Given the description of an element on the screen output the (x, y) to click on. 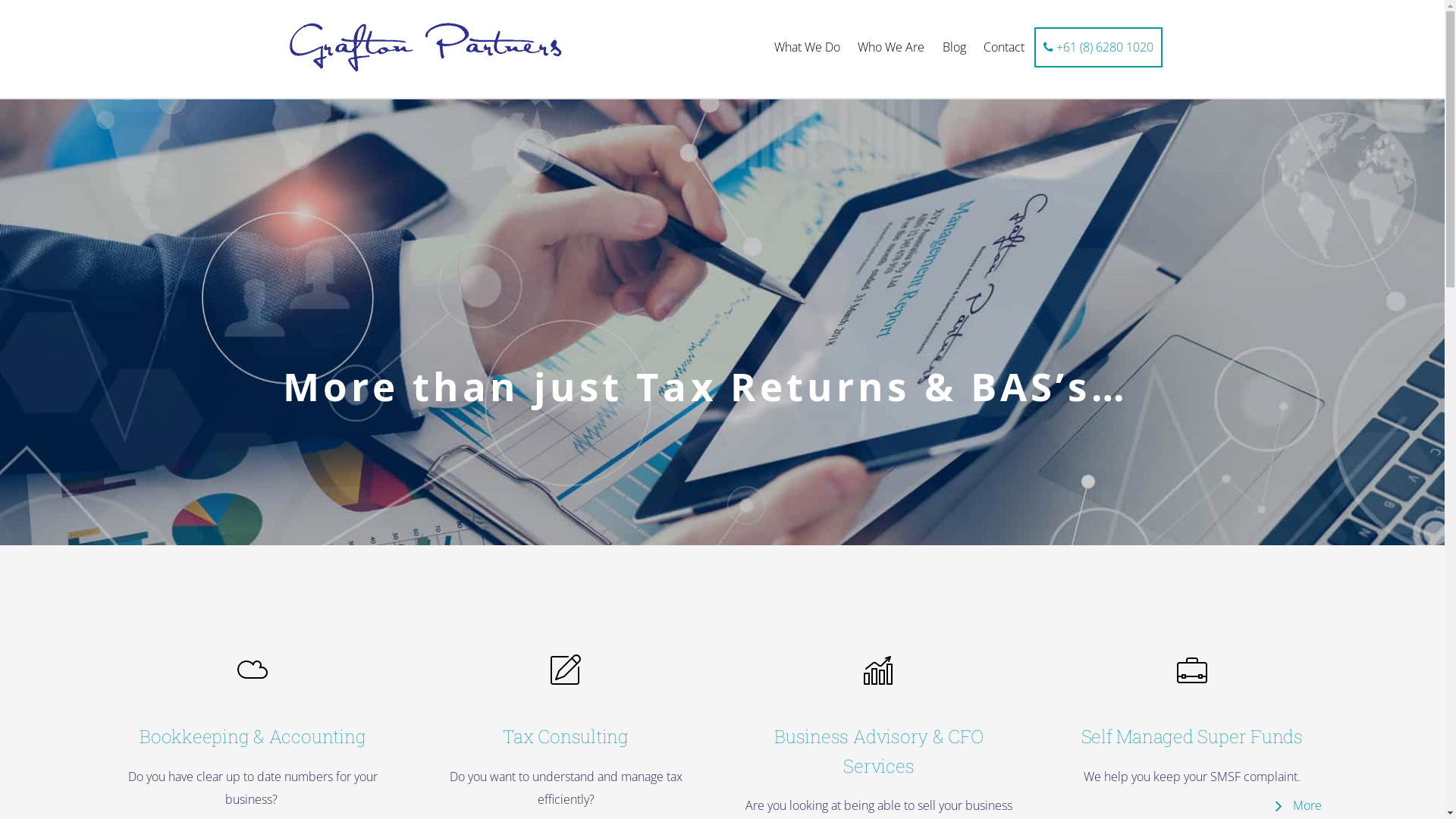
Bookkeeping & Accounting Element type: text (252, 736)
Blog Element type: text (953, 46)
Business Advisory & CFO Services Element type: text (878, 750)
What We Do Element type: text (807, 46)
Self Managed Super Funds Element type: text (1191, 736)
Tax Consulting Element type: text (565, 736)
Grafton Partners Element type: hover (424, 47)
Contact Element type: text (1003, 46)
+61 (8) 6280 1020 Element type: text (1097, 46)
Grafton Partners Element type: hover (424, 71)
Who We Are Element type: text (890, 46)
